Given the description of an element on the screen output the (x, y) to click on. 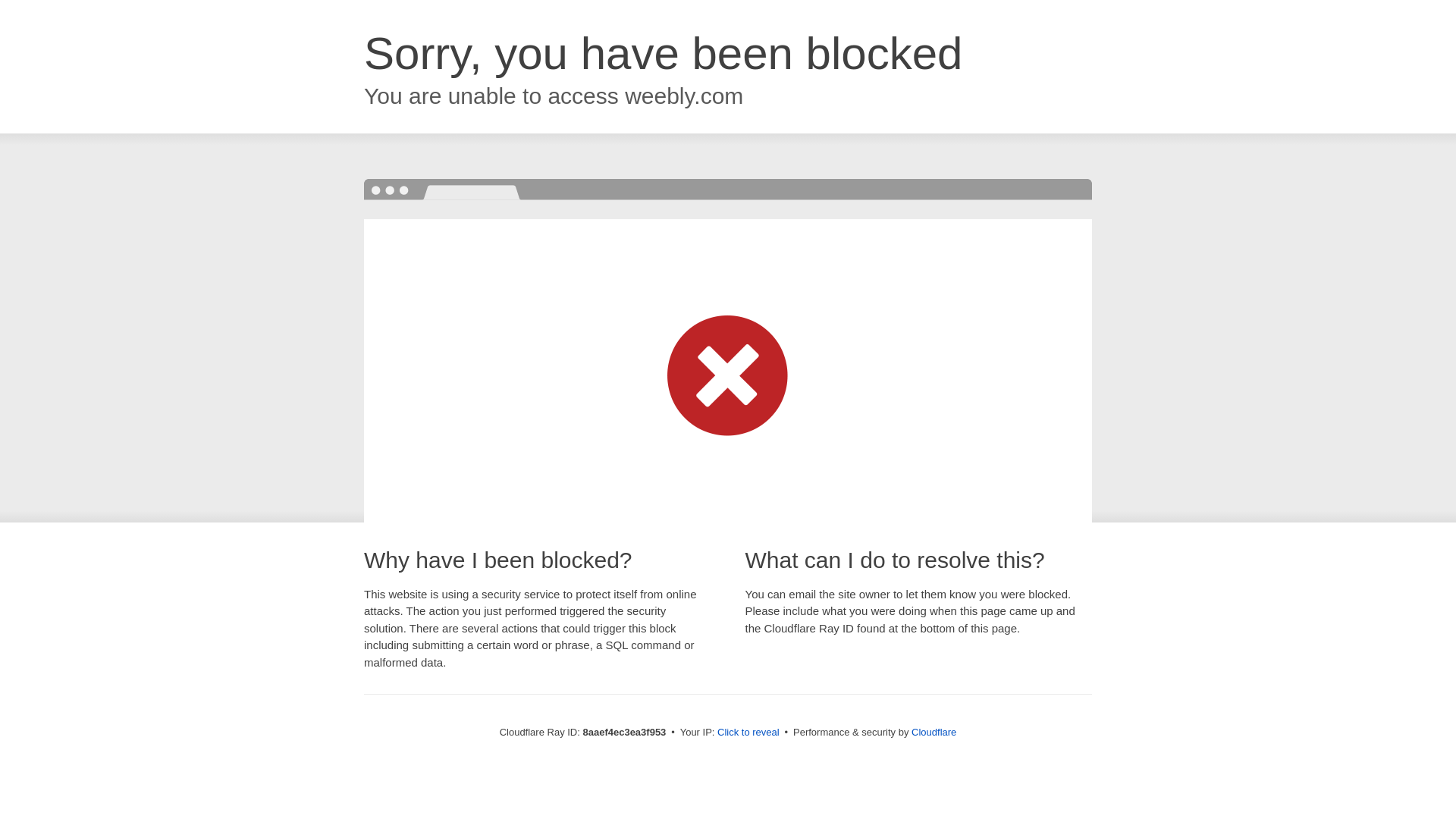
Click to reveal (747, 732)
Cloudflare (933, 731)
